Given the description of an element on the screen output the (x, y) to click on. 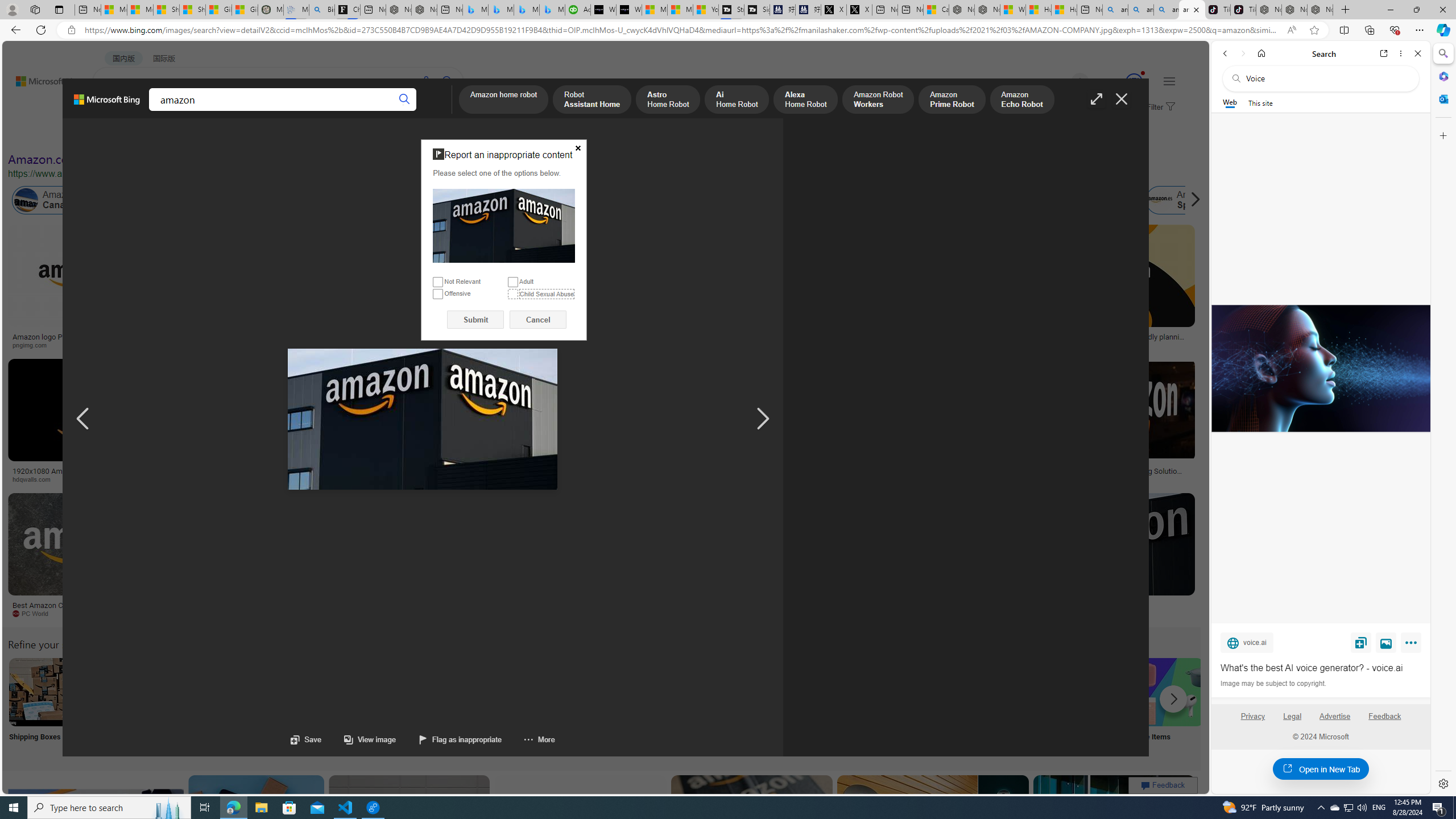
Sign My Account (718, 706)
Amazon Wish List Wish List (568, 706)
Alexa Smart Home Devices (673, 332)
Log into My Account (268, 706)
Amazon Forest (1023, 199)
Search using voice (426, 80)
Eugene (1063, 81)
logopng.com.br (764, 344)
Echo Dot 4th Gen (673, 264)
Amazon Log into My Account (268, 691)
